Given the description of an element on the screen output the (x, y) to click on. 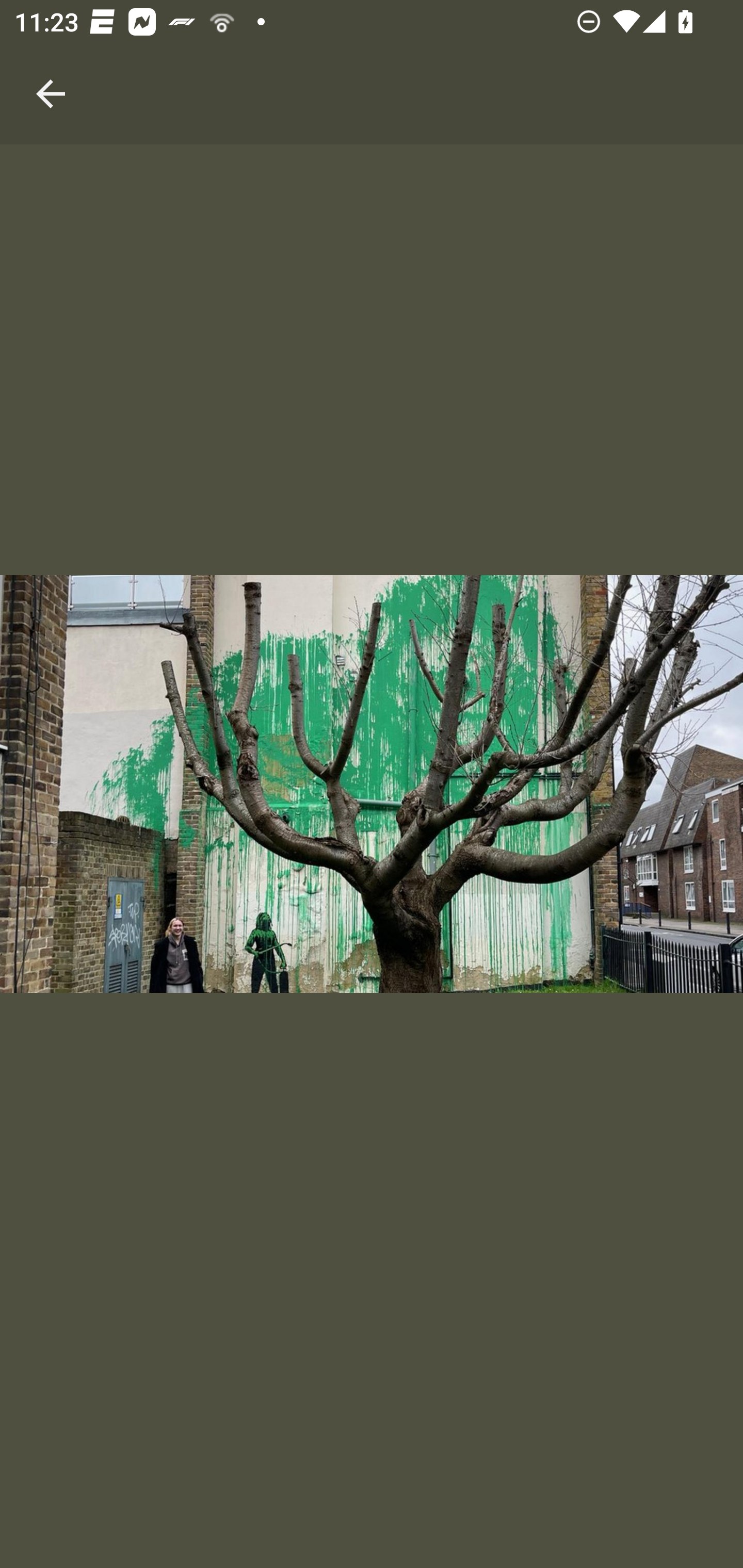
Back (50, 72)
